Given the description of an element on the screen output the (x, y) to click on. 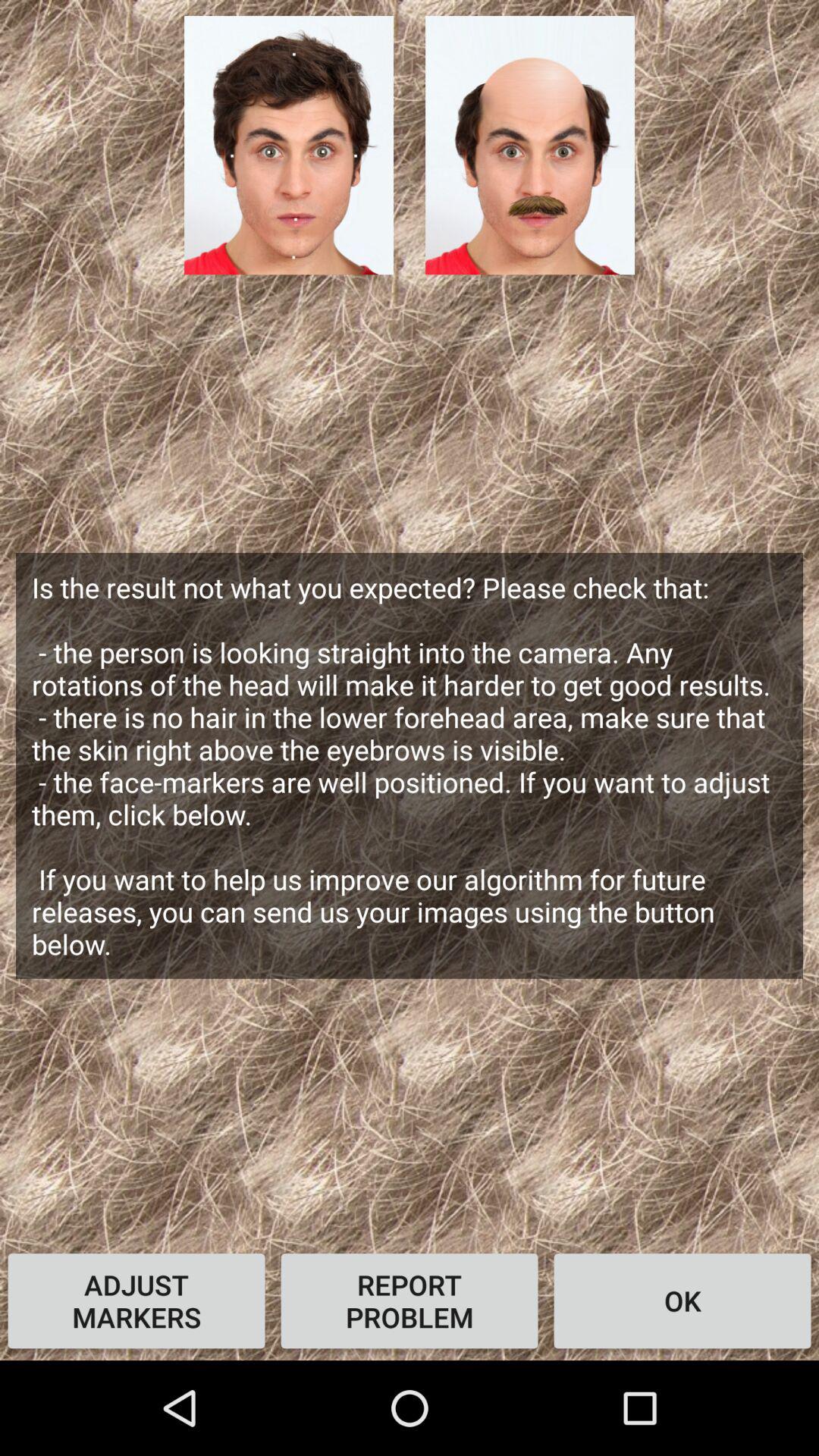
tap ok item (682, 1300)
